Given the description of an element on the screen output the (x, y) to click on. 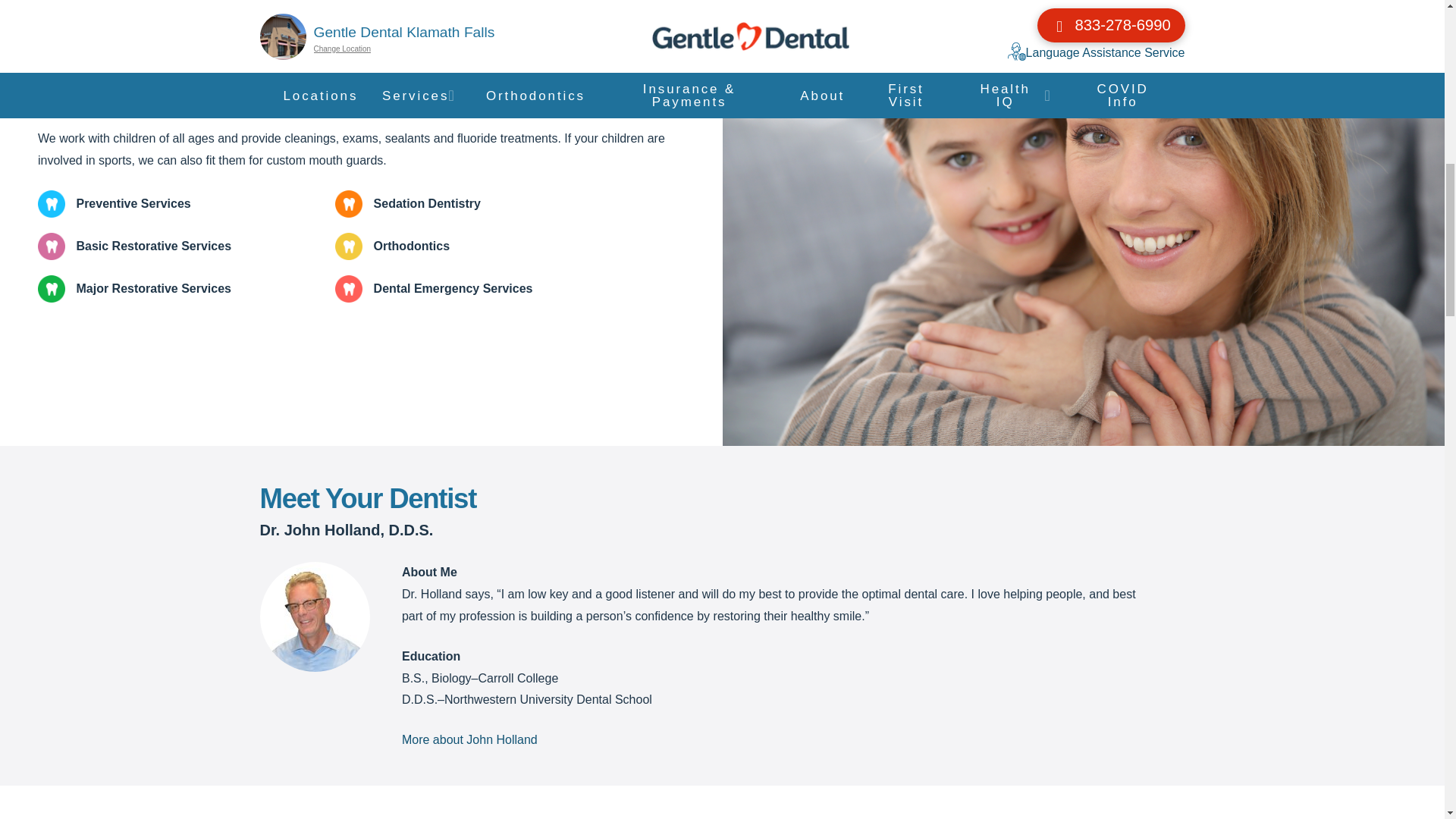
More about John Holland (469, 740)
